Given the description of an element on the screen output the (x, y) to click on. 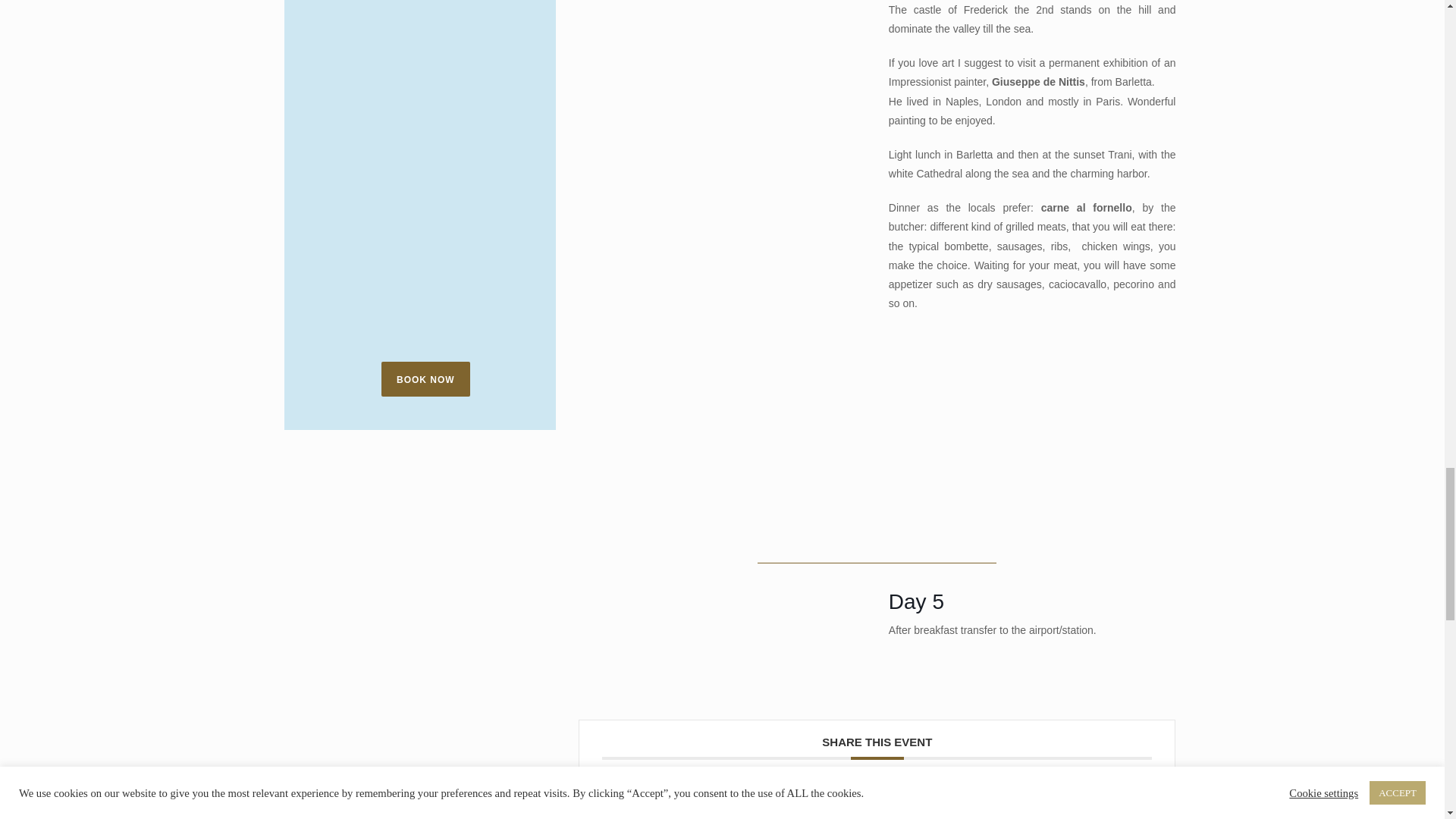
Share on Facebook (789, 797)
Tweet (824, 797)
Linkedin (858, 797)
Share on Pinterest (892, 797)
BOOK NOW (425, 378)
